Given the description of an element on the screen output the (x, y) to click on. 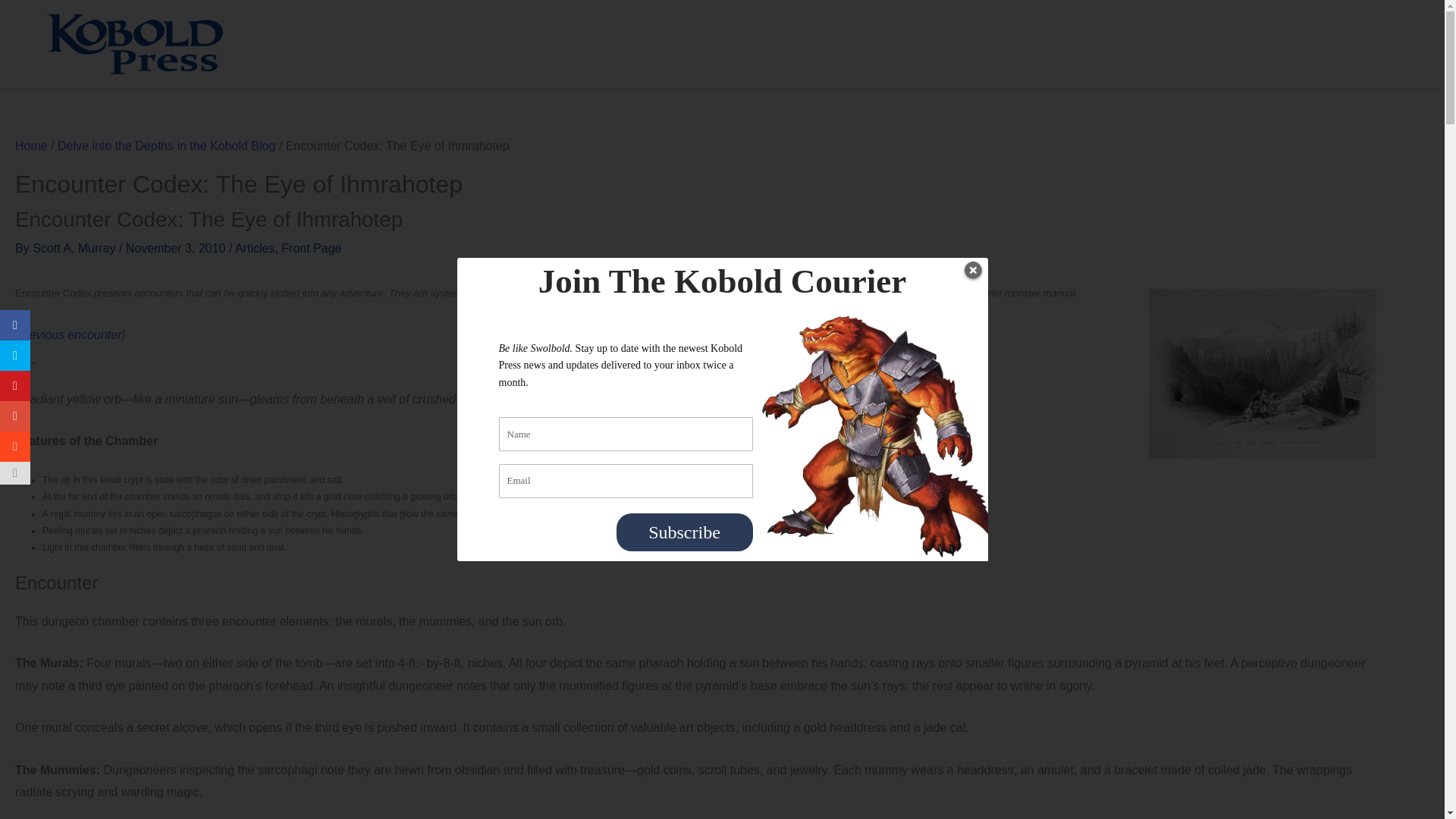
STORE (613, 44)
ACCOUNT (1081, 44)
KICKSTARTER (740, 44)
ABOUT (1191, 44)
CONTACT (964, 44)
Cart (1371, 44)
BLOG (862, 44)
TOOLS (1293, 44)
View all posts by Scott A. Murray (75, 247)
